Given the description of an element on the screen output the (x, y) to click on. 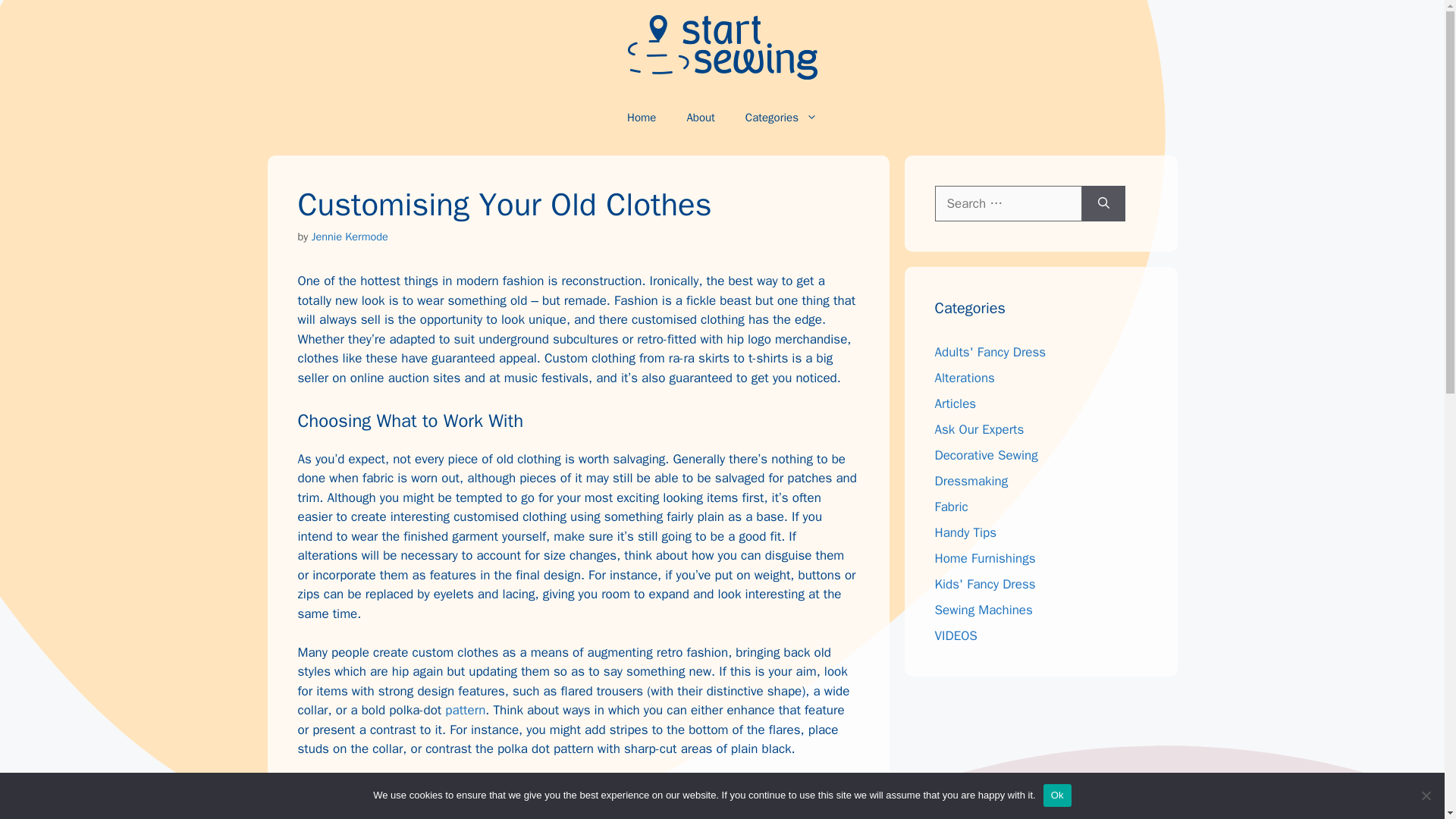
Home (641, 117)
VIDEOS (955, 635)
Decorative Sewing (985, 455)
Kids' Fancy Dress (984, 584)
View all posts by Jennie Kermode (349, 236)
Home Furnishings (984, 558)
Dressmaking (970, 480)
Adults' Fancy Dress (989, 351)
Ok (1057, 794)
About (700, 117)
Search for: (1007, 203)
Sewing Machines (983, 609)
Fabric (951, 506)
Handy Tips (964, 532)
Alterations (964, 377)
